Given the description of an element on the screen output the (x, y) to click on. 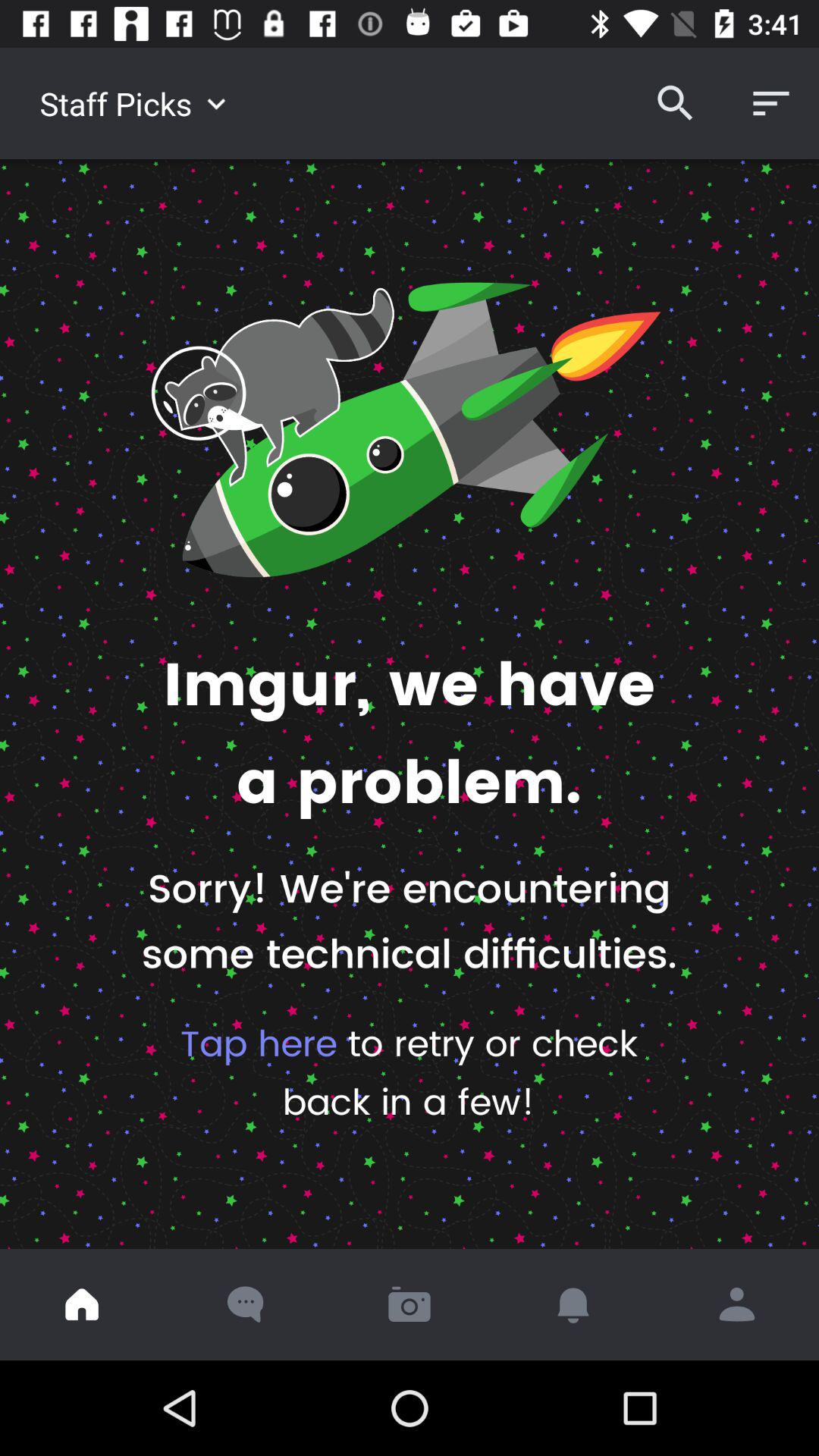
press the item next to staff picks item (675, 103)
